Given the description of an element on the screen output the (x, y) to click on. 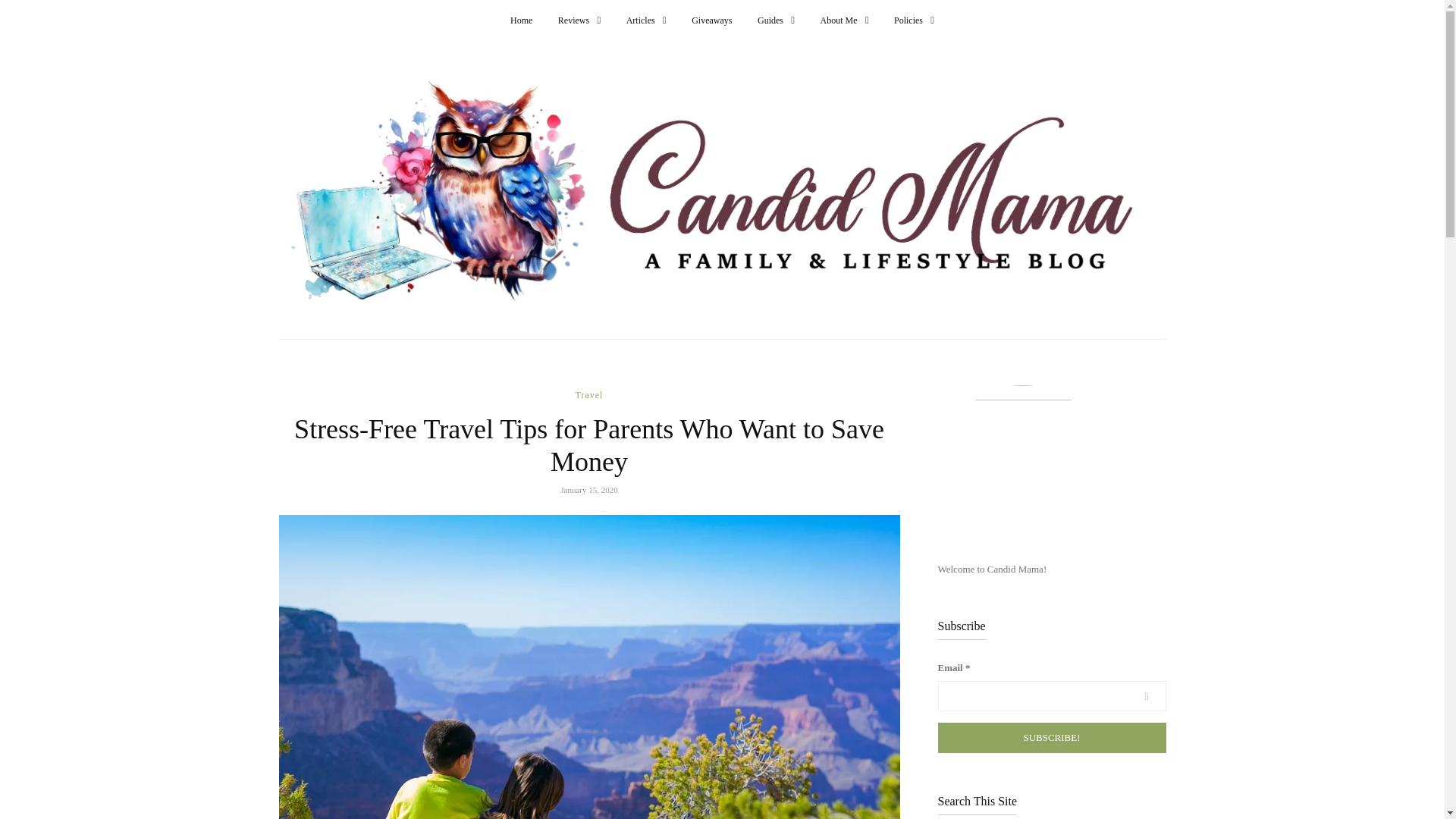
Subscribe! (1051, 737)
Reviews (578, 20)
Home (521, 20)
